Given the description of an element on the screen output the (x, y) to click on. 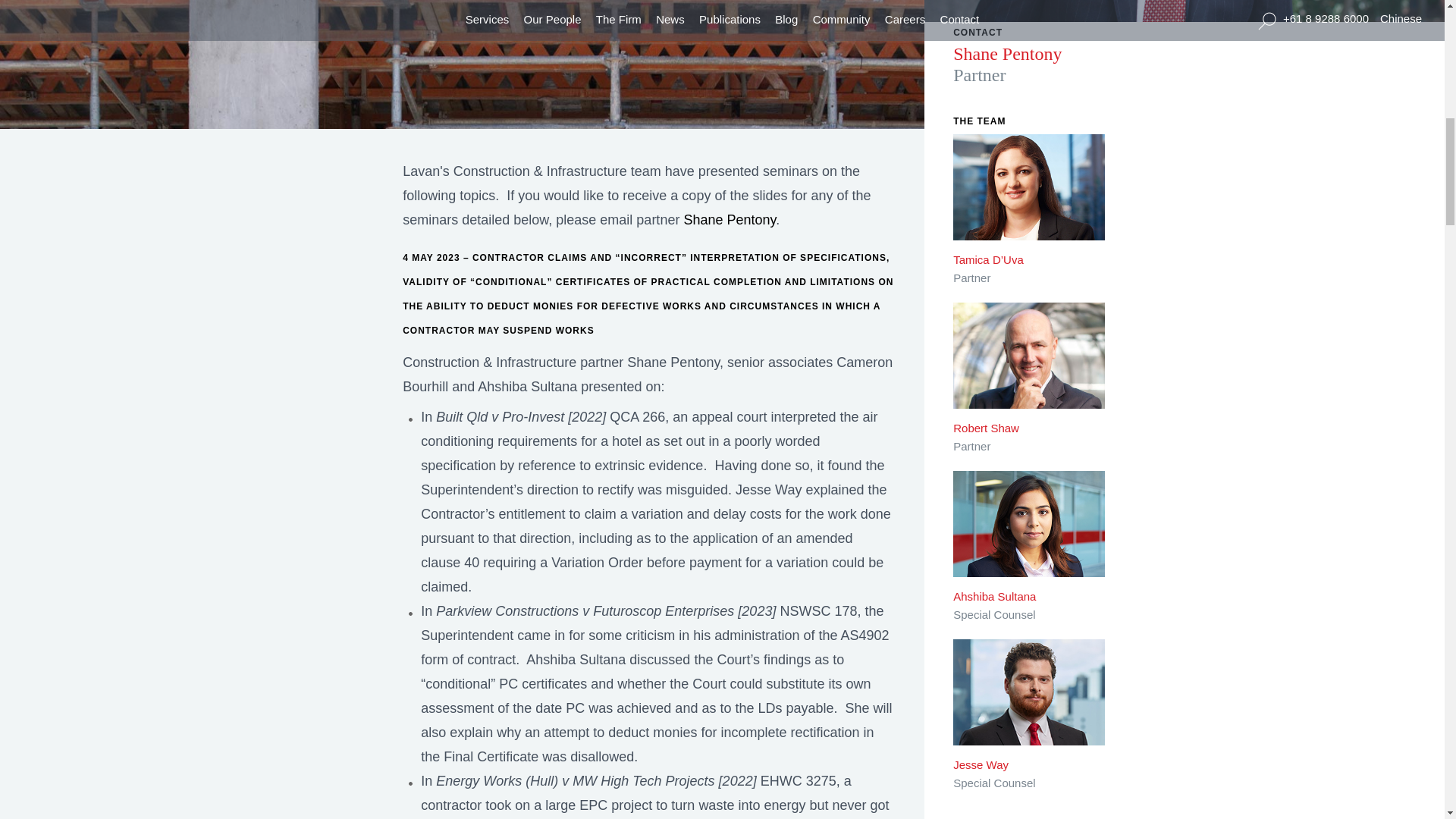
Ahshiba 2800x1800 (1029, 534)
Robert Shaw (1029, 365)
TamicaDUva-TAD-2800x1800.jpg (1029, 197)
Jesse Way new (1029, 702)
